Given the description of an element on the screen output the (x, y) to click on. 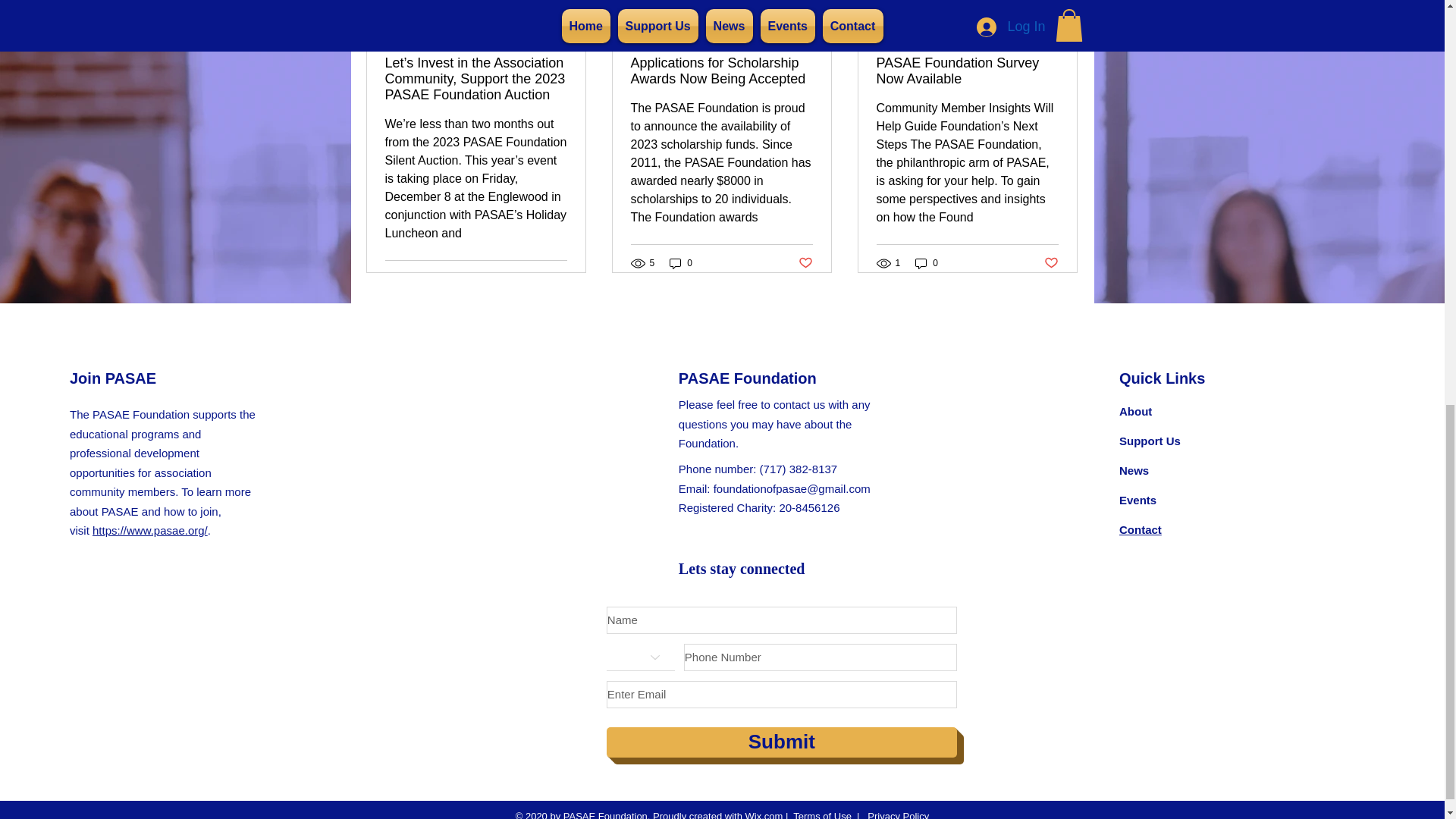
0 (926, 263)
0 (681, 263)
Post not marked as liked (1050, 263)
PASAE Foundation Survey Now Available (967, 70)
Post not marked as liked (804, 263)
About (1135, 410)
See All (1061, 10)
Submit (781, 742)
Post not marked as liked (558, 279)
Applications for Scholarship Awards Now Being Accepted (721, 70)
